Given the description of an element on the screen output the (x, y) to click on. 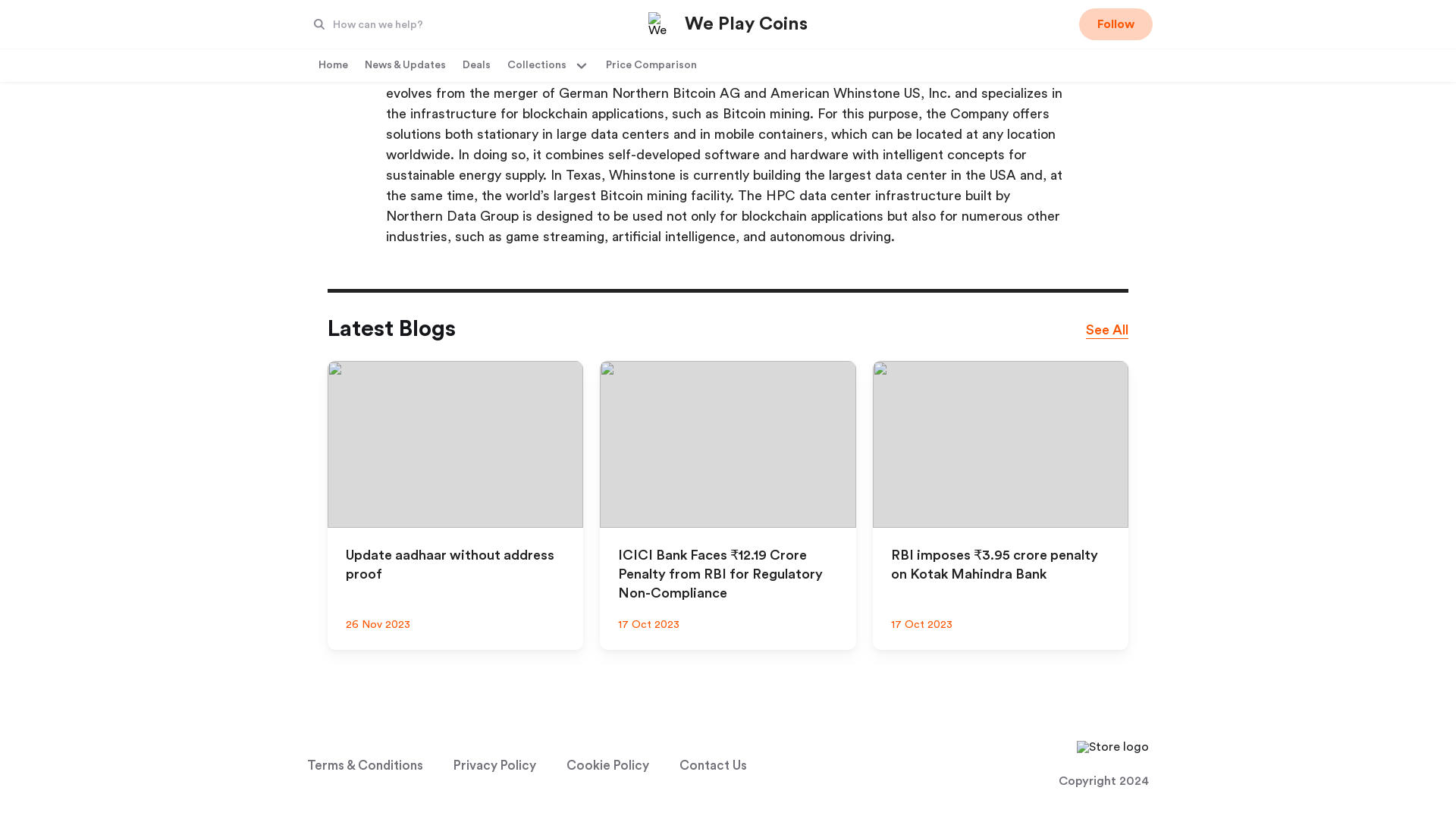
Cookie Policy (607, 765)
Privacy Policy (493, 765)
Contact Us (715, 765)
